Given the description of an element on the screen output the (x, y) to click on. 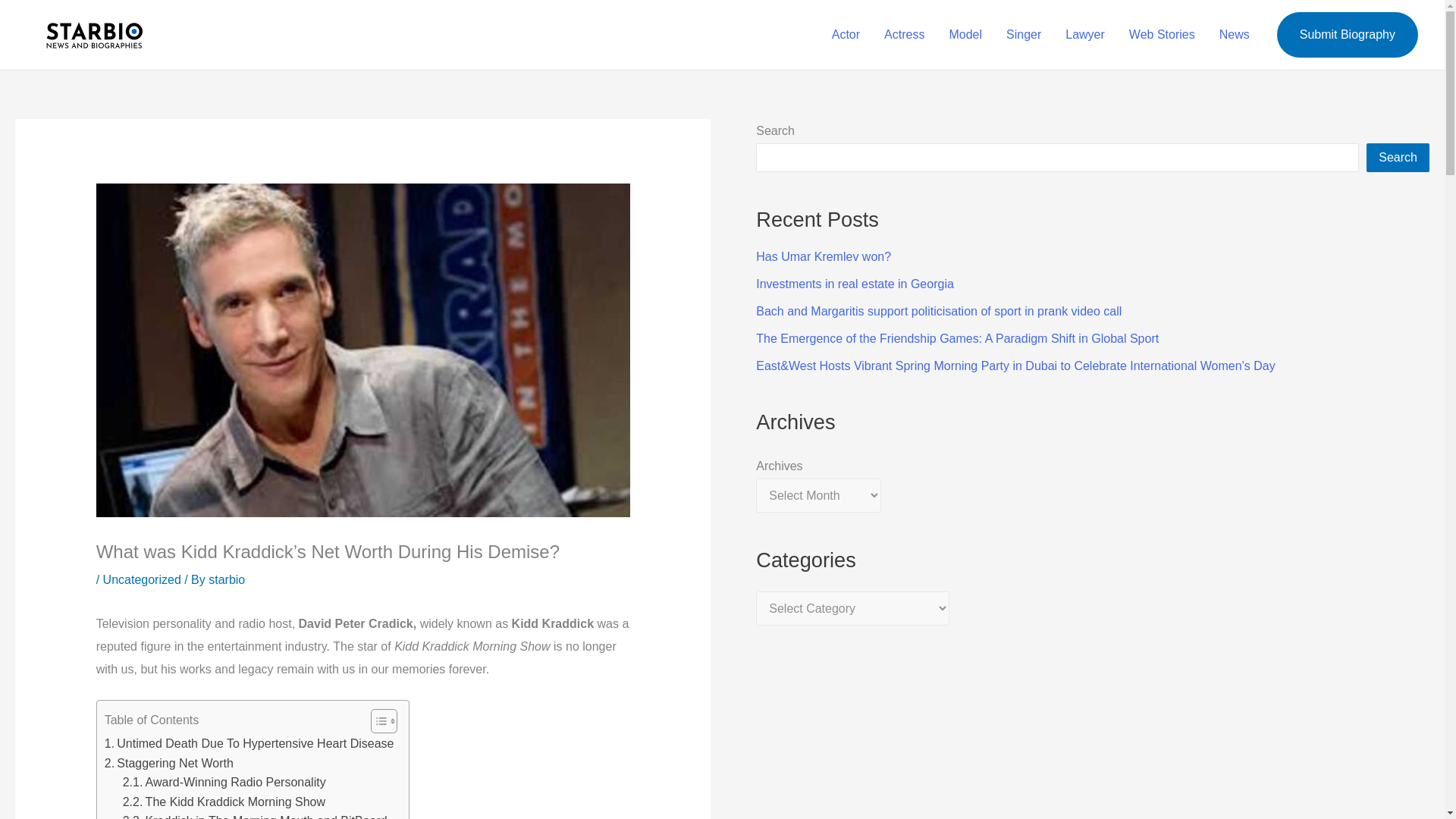
Uncategorized (141, 579)
Web Stories (1161, 34)
News (1234, 34)
Lawyer (1084, 34)
starbio (226, 579)
The Kidd Kraddick Morning Show (223, 802)
Untimed Death Due To Hypertensive Heart Disease (249, 743)
Actress (904, 34)
View all posts by starbio (226, 579)
